Given the description of an element on the screen output the (x, y) to click on. 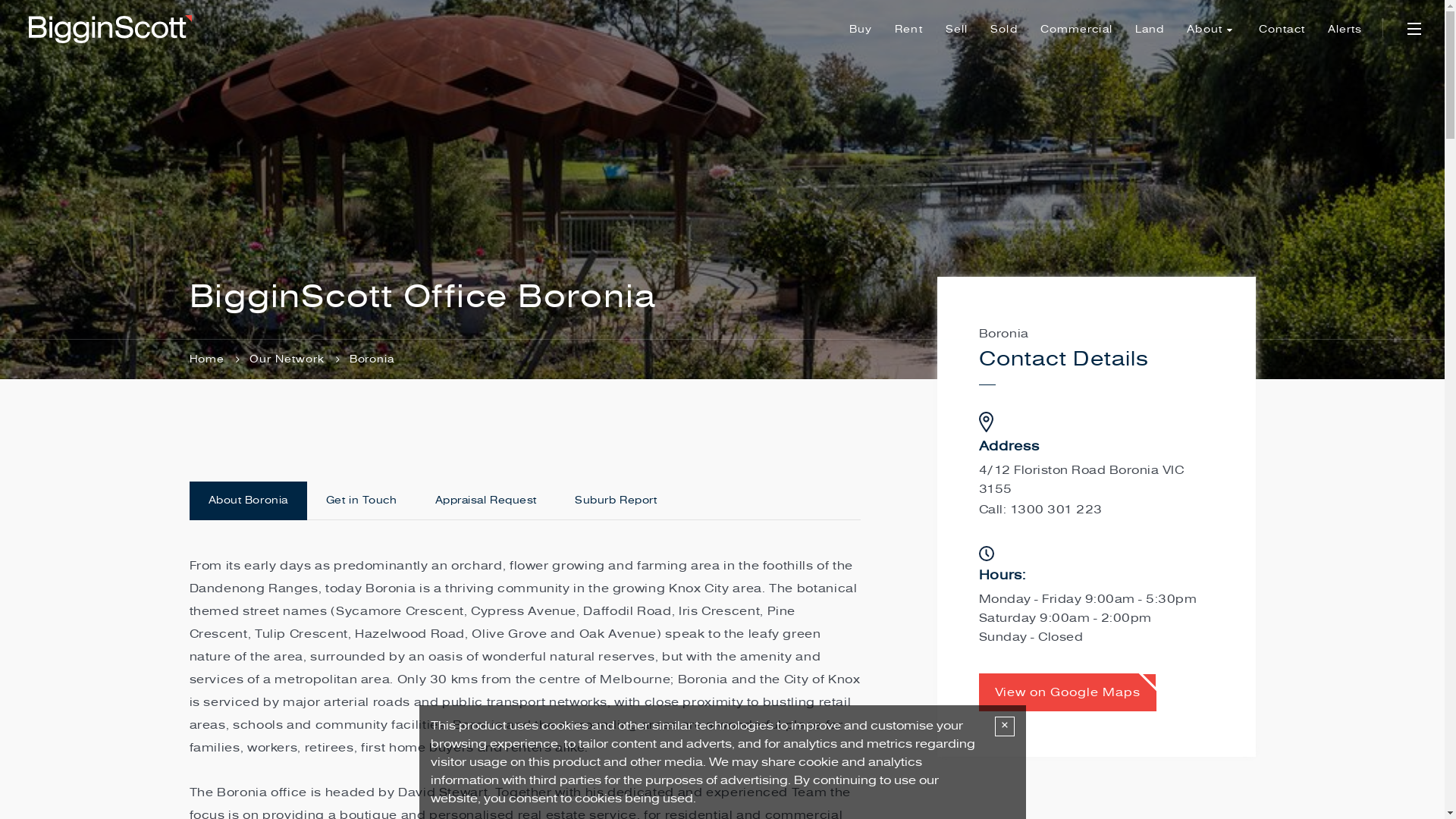
View on Google Maps Element type: text (1066, 692)
clock icon Element type: hover (985, 553)
Alerts Element type: text (1344, 29)
Rent Element type: text (908, 29)
Sold Element type: text (1003, 29)
Land Element type: text (1149, 29)
Home Element type: text (217, 359)
1300 301 223 Element type: text (1056, 509)
Commercial Element type: text (1076, 29)
Contact Element type: text (1281, 29)
Buy Element type: text (860, 29)
About Element type: text (1211, 29)
map icon Element type: hover (985, 421)
Our Network Element type: text (297, 359)
Sell Element type: text (956, 29)
